Given the description of an element on the screen output the (x, y) to click on. 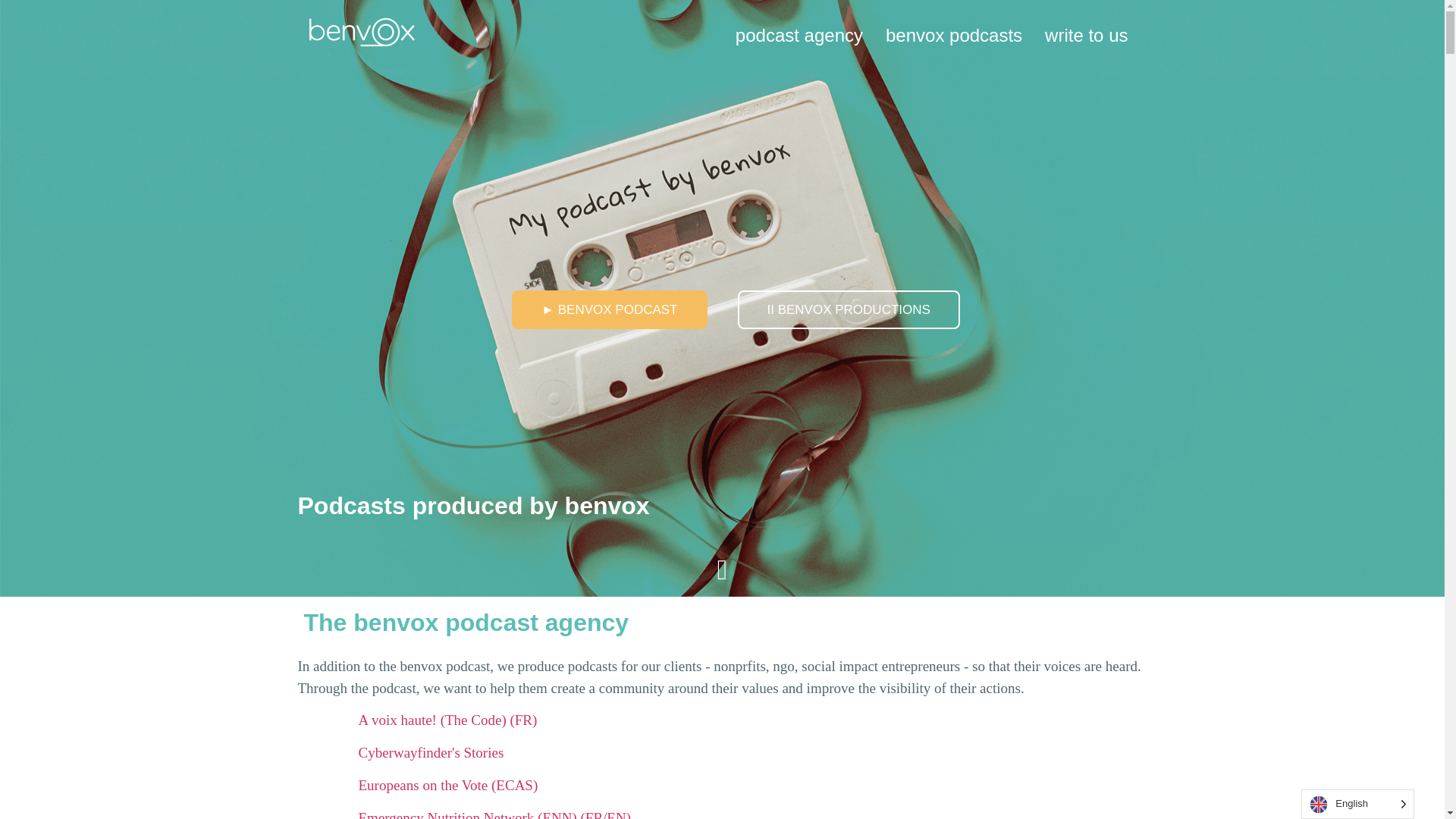
podcast agency (799, 35)
benvox podcasts (954, 35)
write to us (1085, 35)
Cyberwayfinder's Stories (430, 752)
II BENVOX PRODUCTIONS (847, 309)
